Given the description of an element on the screen output the (x, y) to click on. 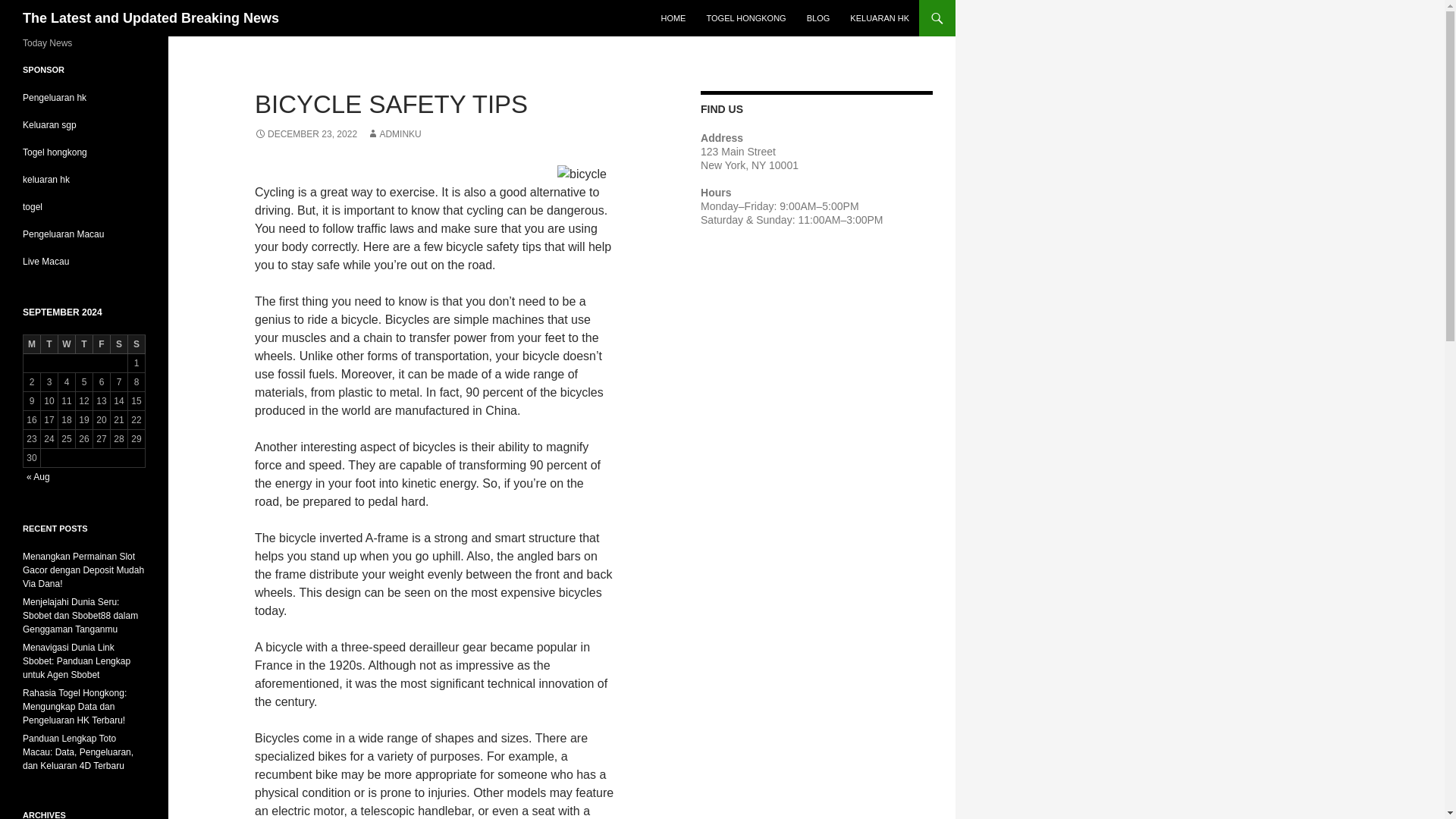
Thursday (84, 343)
BLOG (818, 18)
togel (32, 206)
Wednesday (66, 343)
Sunday (136, 343)
DECEMBER 23, 2022 (305, 133)
Togel hongkong (55, 152)
KELUARAN HK (879, 18)
